Given the description of an element on the screen output the (x, y) to click on. 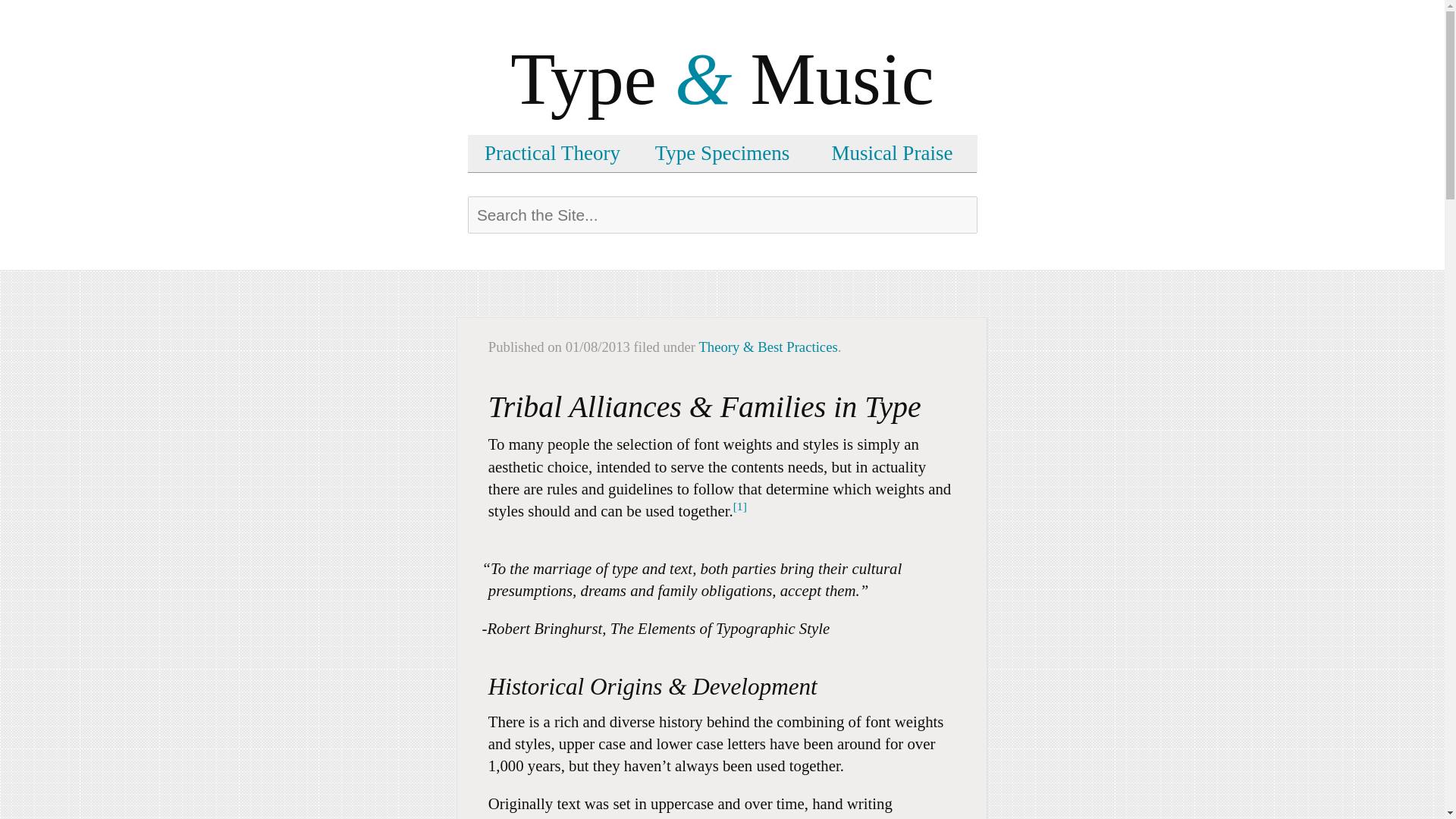
Introduction to article (721, 535)
Practical Theory (552, 153)
Type Specimens (721, 153)
Musical Praise (891, 153)
Historical context and development (721, 746)
